Given the description of an element on the screen output the (x, y) to click on. 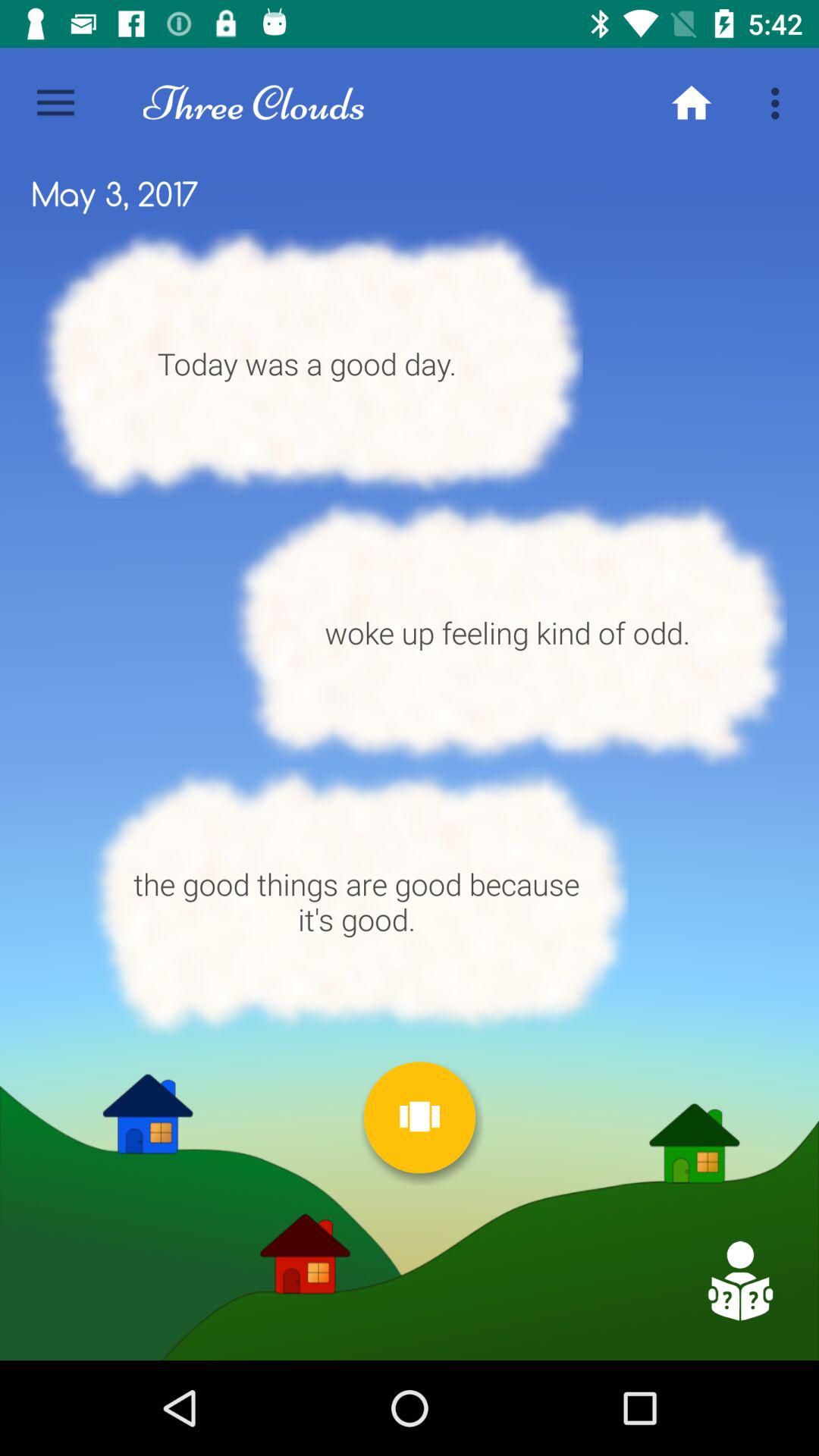
it 's purple arrow pointing to the left (739, 1280)
